Given the description of an element on the screen output the (x, y) to click on. 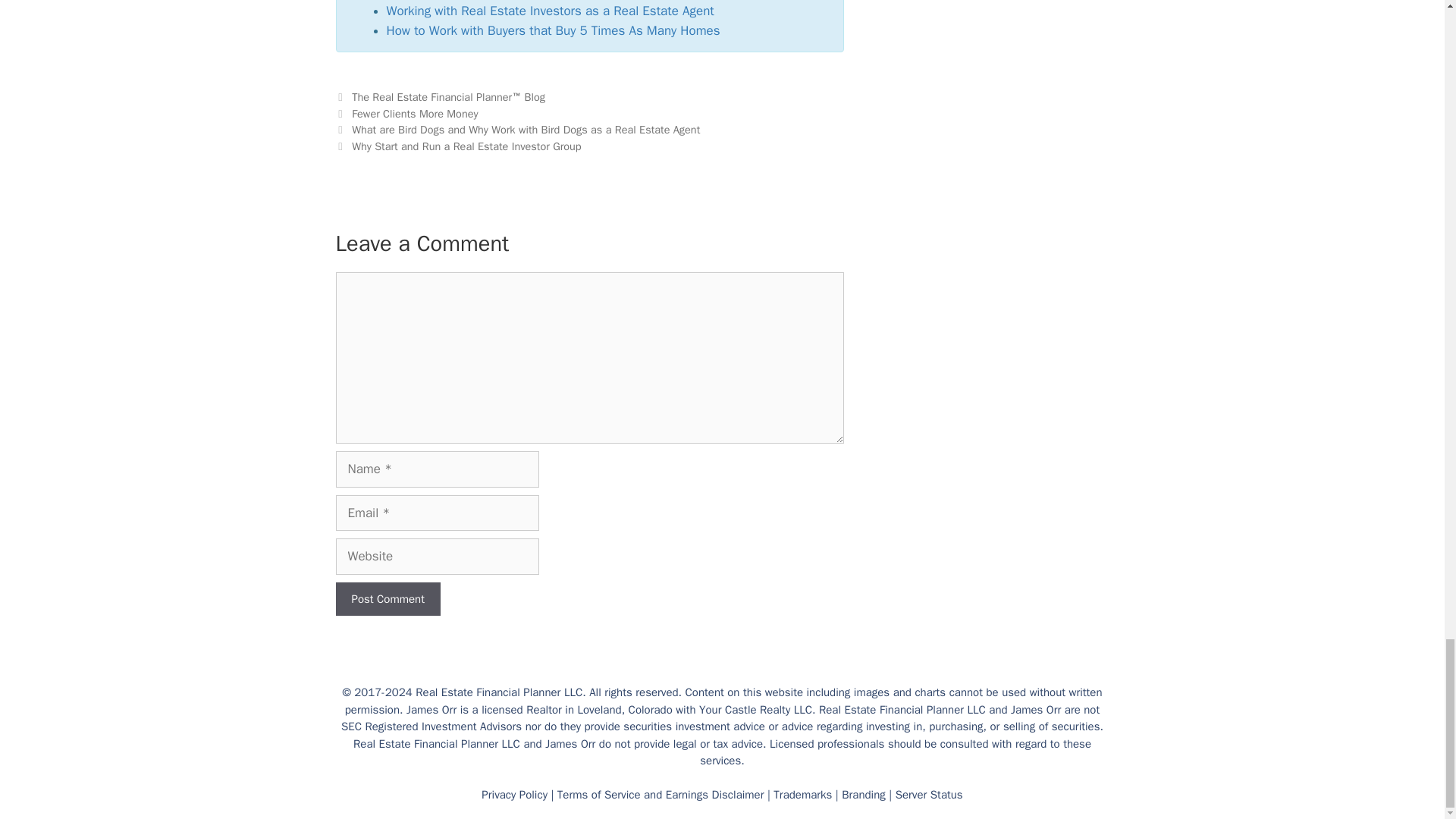
Post Comment (386, 599)
Why Start and Run a Real Estate Investor Group (466, 146)
How to Work with Buyers that Buy 5 Times As Many Homes (553, 30)
Fewer Clients More Money (414, 113)
Working with Real Estate Investors as a Real Estate Agent (550, 10)
Post Comment (386, 599)
